Given the description of an element on the screen output the (x, y) to click on. 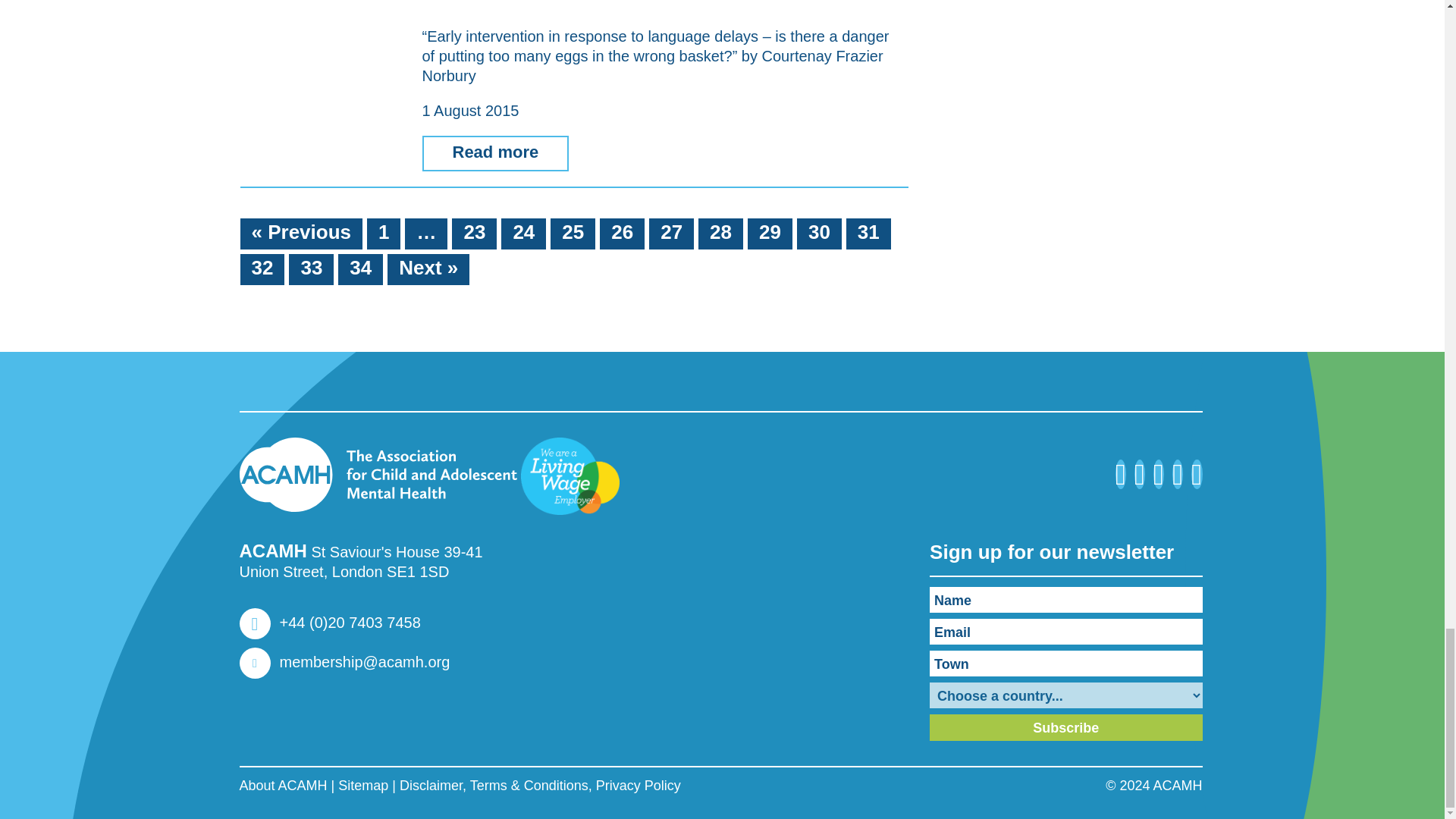
Subscribe (1066, 727)
